Given the description of an element on the screen output the (x, y) to click on. 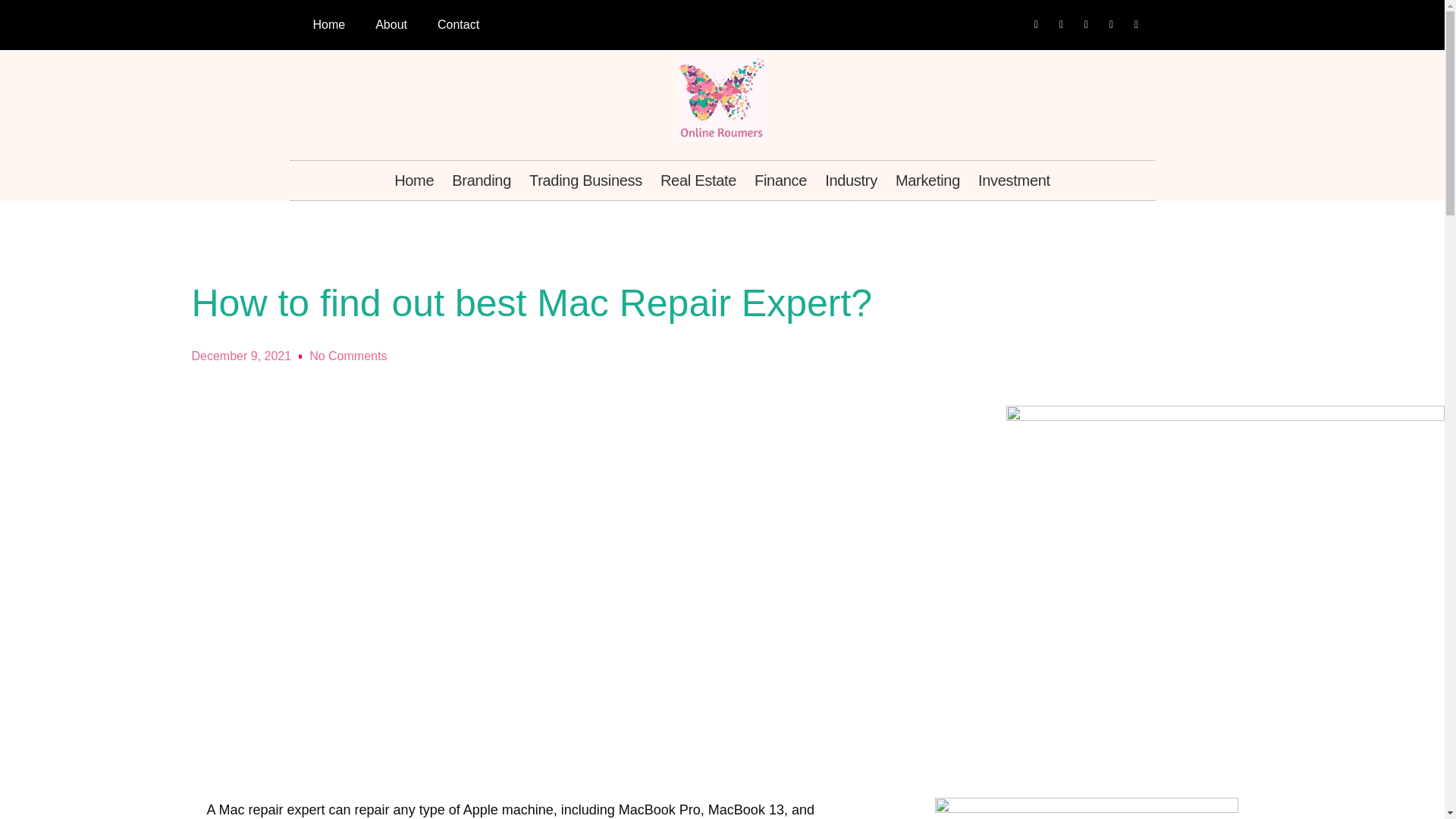
Investment (1014, 179)
Trading Business (584, 179)
No Comments (347, 355)
Branding (480, 179)
December 9, 2021 (240, 355)
Marketing (927, 179)
Industry (850, 179)
Real Estate (697, 179)
About (390, 24)
Contact (458, 24)
